Given the description of an element on the screen output the (x, y) to click on. 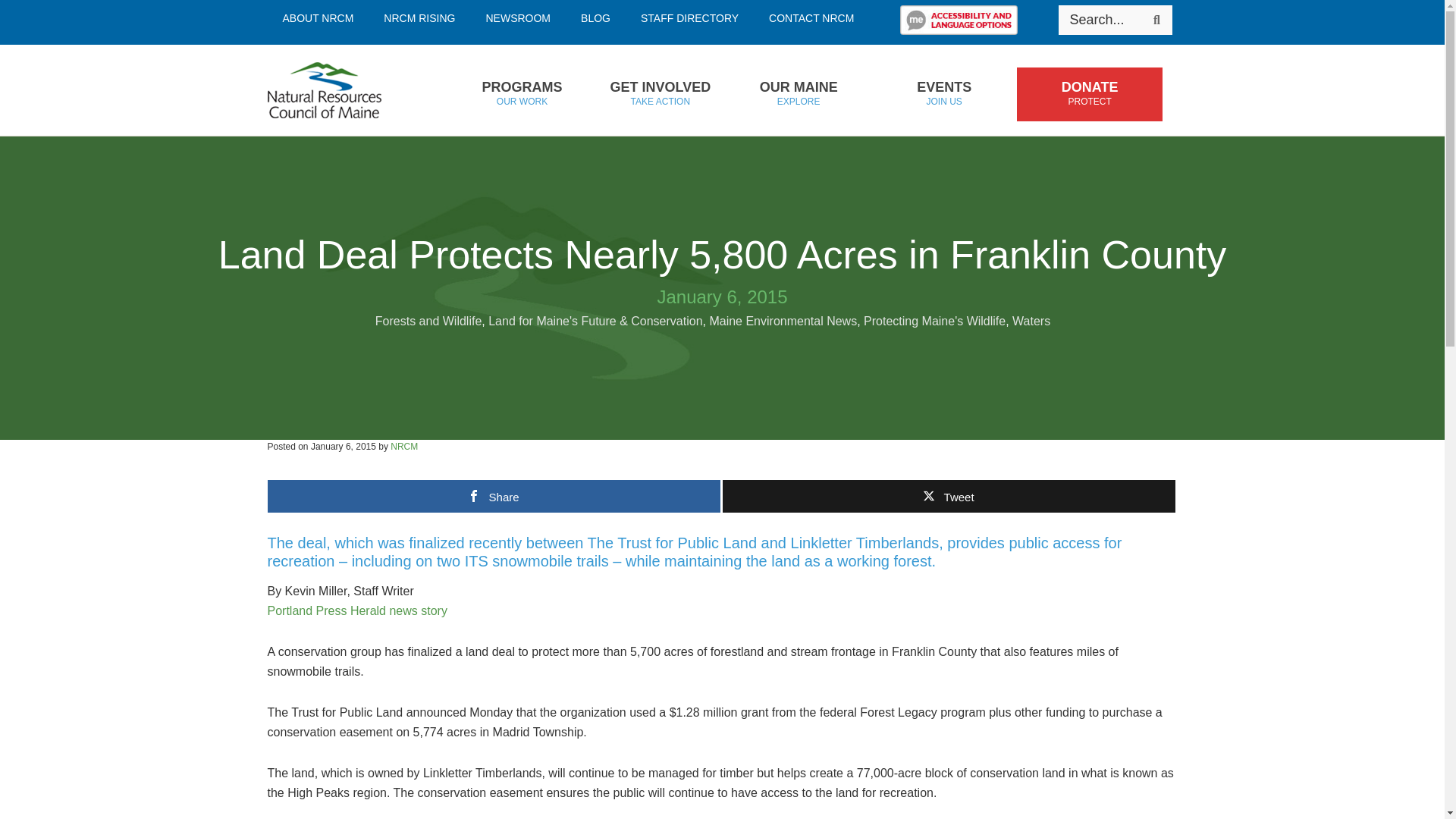
BLOG (596, 18)
CONTACT NRCM (811, 18)
ABOUT NRCM (317, 18)
Natural Resources Council of Maine (347, 90)
NRCM RISING (419, 18)
STAFF DIRECTORY (690, 18)
Search (1156, 19)
NEWSROOM (521, 94)
